Given the description of an element on the screen output the (x, y) to click on. 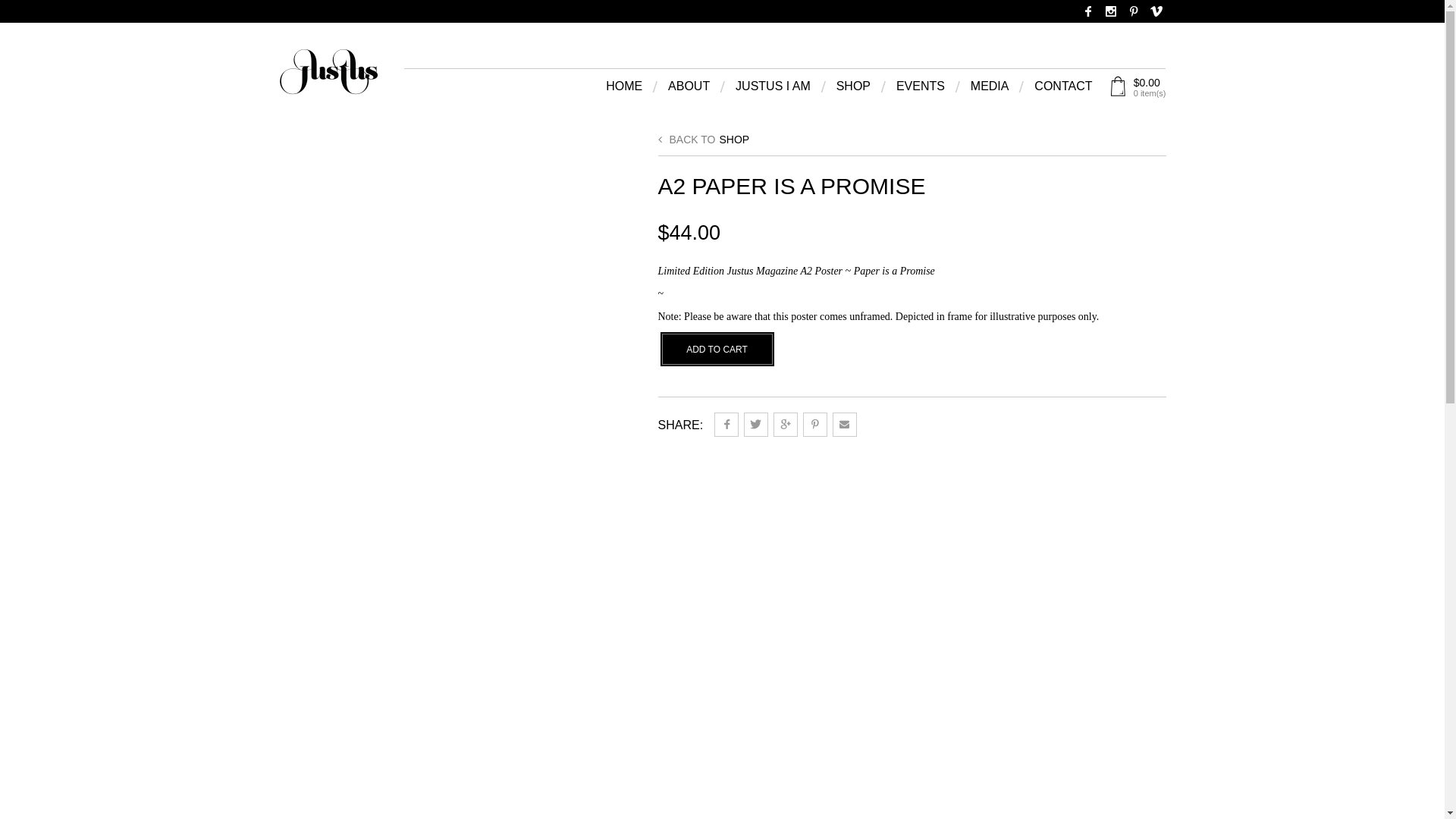
Share on Facebook Element type: hover (726, 424)
Share on Google+ Element type: hover (785, 424)
HOME Element type: text (623, 89)
ADD TO CART Element type: text (716, 349)
Pinterest Element type: hover (1133, 11)
SHOP Element type: text (853, 89)
ABOUT Element type: text (688, 89)
Email a Friend Element type: hover (844, 424)
JUSTUS I AM Element type: text (772, 89)
SHOP Element type: text (733, 139)
Vimeo Element type: hover (1156, 11)
Tweet this item Element type: hover (755, 424)
Facebook Element type: hover (1088, 11)
EVENTS Element type: text (920, 89)
CONTACT Element type: text (1063, 89)
MEDIA Element type: text (989, 89)
Instagram Element type: hover (1110, 11)
